Given the description of an element on the screen output the (x, y) to click on. 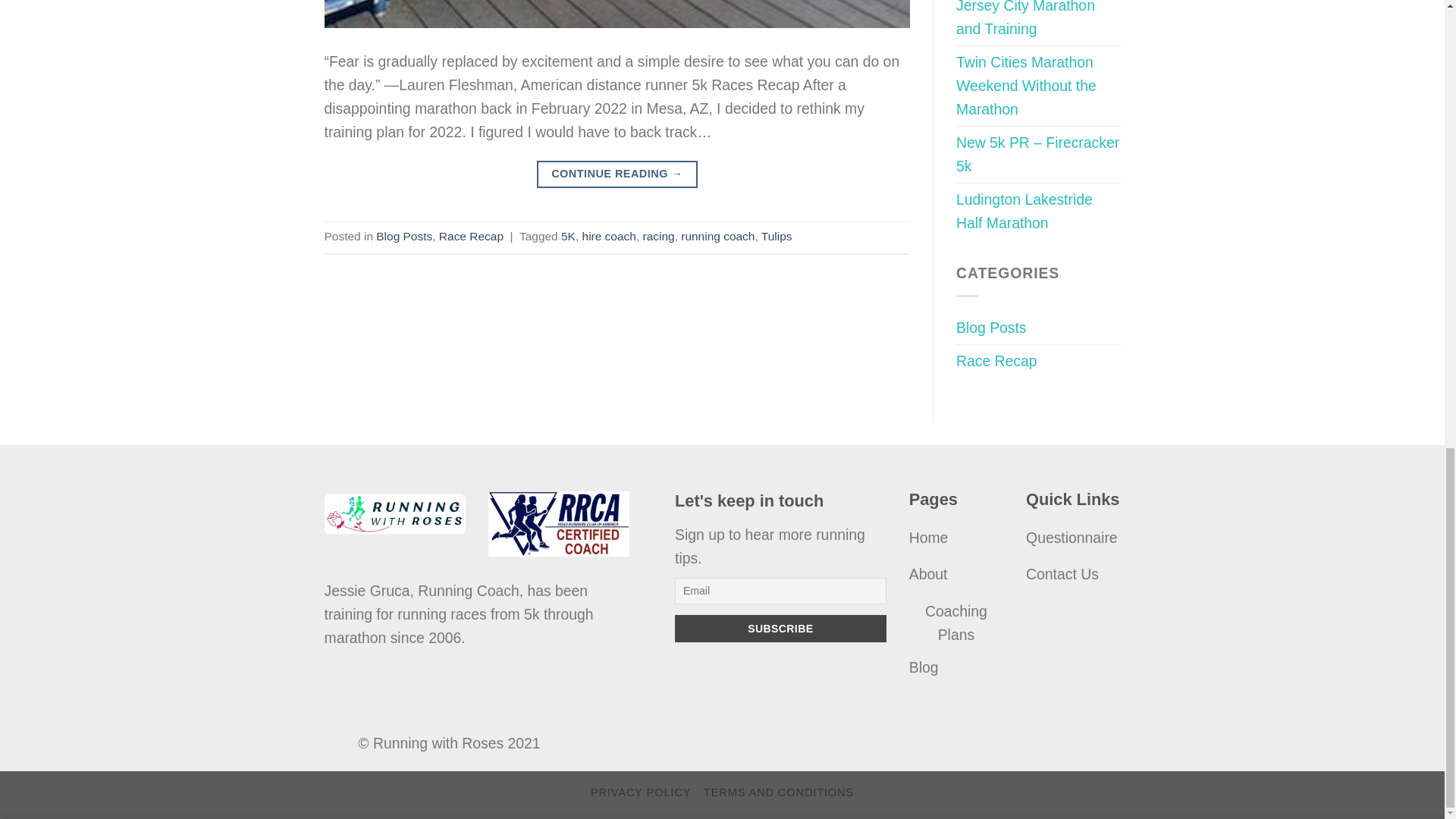
5K (567, 236)
hire coach (609, 236)
Blog Posts (403, 236)
Jersey City Marathon and Training (1038, 22)
Subscribe (780, 628)
Race Recap (471, 236)
Tulips (776, 236)
running coach (717, 236)
racing (659, 236)
